Given the description of an element on the screen output the (x, y) to click on. 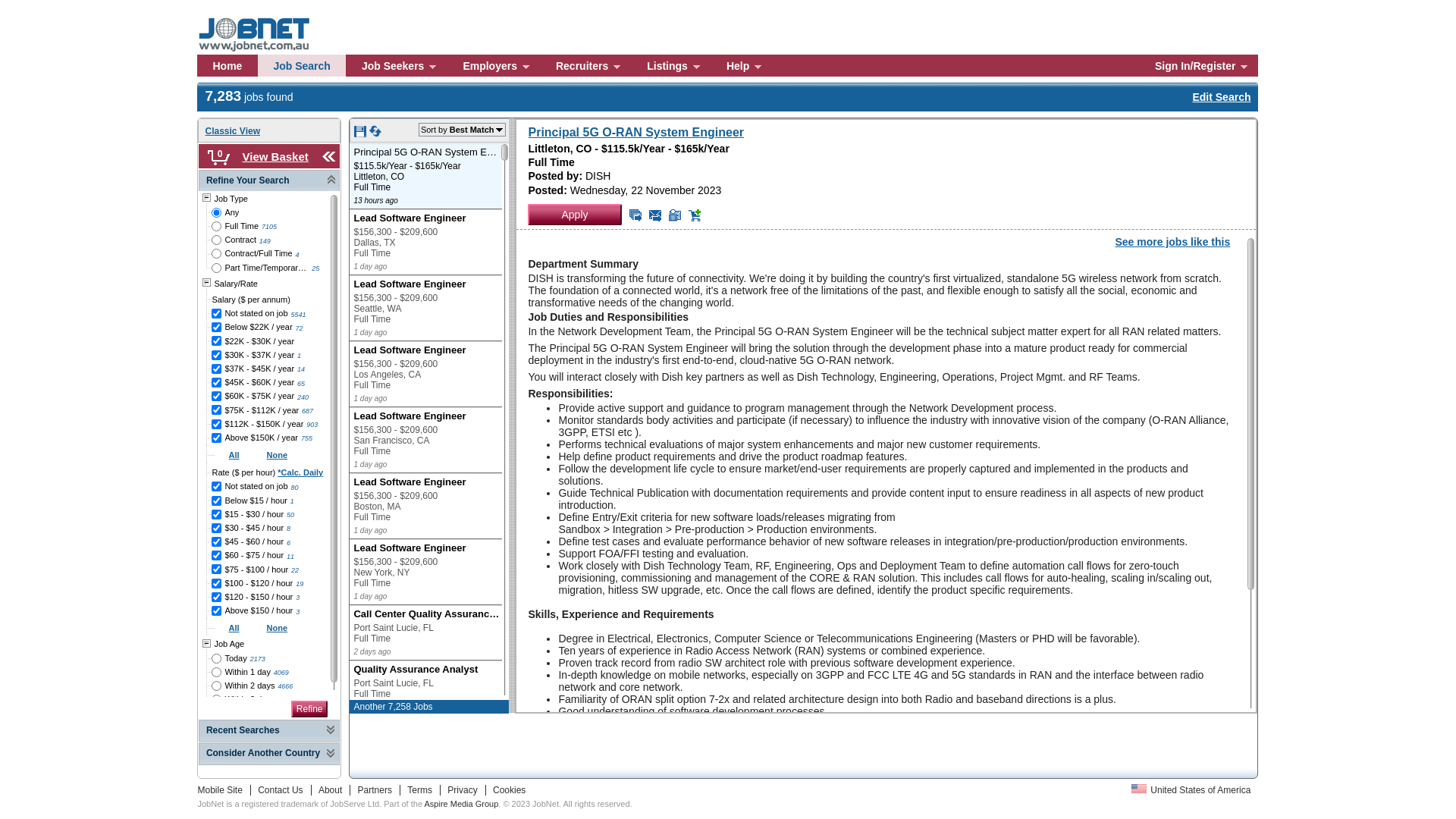
Help Element type: text (741, 65)
Cookies Element type: text (506, 789)
None Element type: text (277, 454)
View Basket Element type: text (274, 156)
Mobile Site Element type: text (223, 789)
See more jobs like this Element type: text (1172, 241)
Edit Search Element type: text (1221, 97)
Partners Element type: text (376, 789)
Privacy Element type: text (463, 789)
Send me more jobs like this Element type: hover (635, 215)
None Element type: text (277, 627)
Home Element type: text (227, 65)
Refine Element type: text (309, 708)
Principal 5G O-RAN System Engineer Element type: text (635, 131)
Classic View Element type: text (232, 130)
Contact Us Element type: text (281, 789)
Recruiters Element type: text (585, 65)
All Element type: text (233, 627)
Collapse Element type: hover (328, 156)
Listings Element type: text (670, 65)
JobNet: Jobs for Technical People Element type: text (264, 13)
All Element type: text (233, 454)
Consider Another Country Element type: text (268, 753)
Save this Search Element type: hover (361, 133)
Sign In/Register Element type: text (1198, 65)
Refresh this Search Element type: hover (375, 133)
Apply Element type: text (574, 214)
Recent Searches Element type: text (268, 730)
About Element type: text (331, 789)
Email me this job Element type: hover (655, 215)
Job Seekers Element type: text (396, 65)
Refine Your Search Element type: text (268, 180)
*Calc. Daily Element type: text (300, 471)
Resize Element type: hover (511, 415)
Tell a friend Element type: hover (674, 215)
Sort by Best Match Element type: text (462, 129)
Terms Element type: text (421, 789)
United States of America Element type: text (1190, 789)
Employers Element type: text (493, 65)
Aspire Media Group Element type: text (460, 803)
Job Search Element type: text (301, 65)
Add this to the job basket Element type: hover (694, 215)
